Given the description of an element on the screen output the (x, y) to click on. 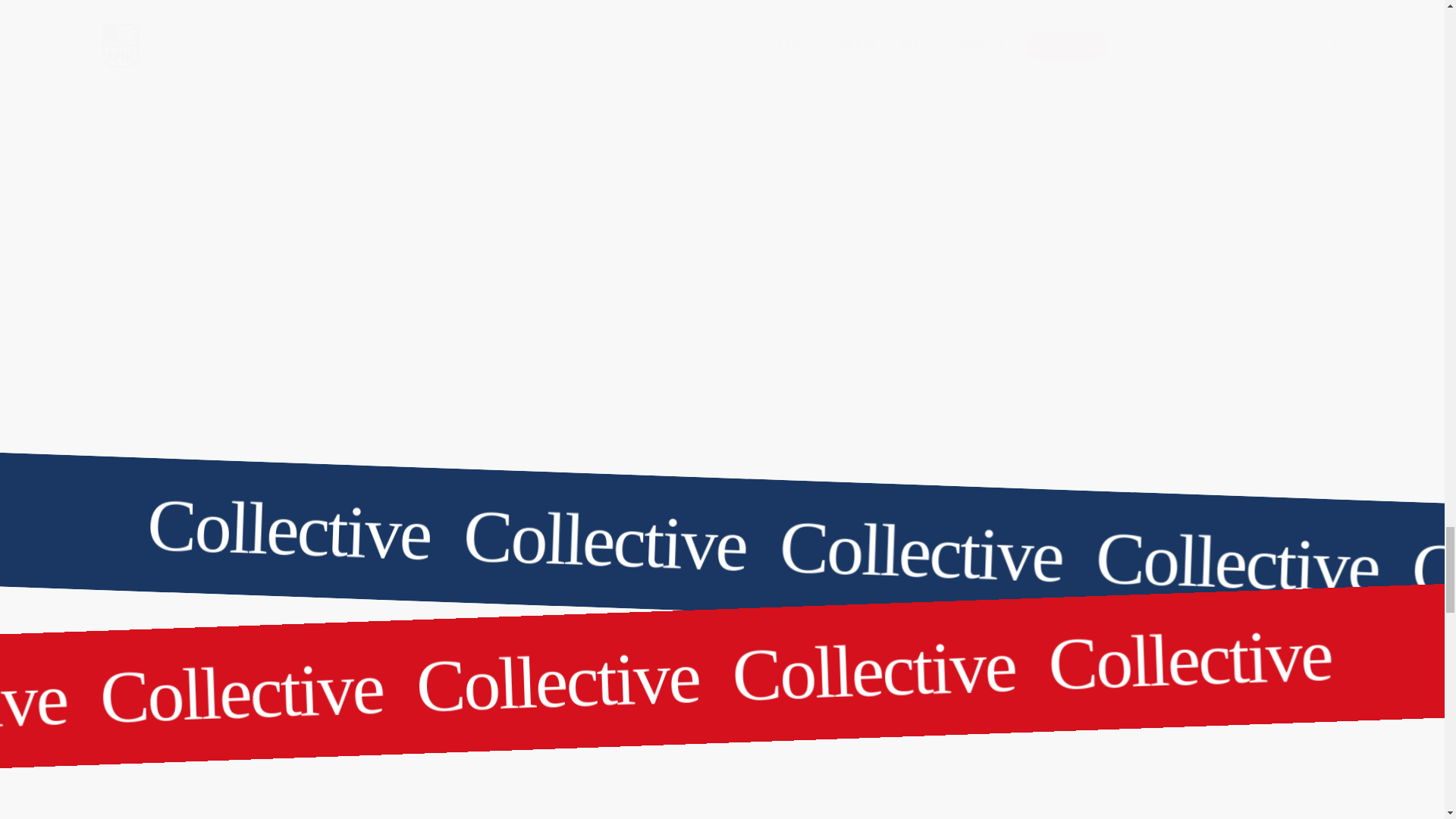
Collective (1302, 648)
Collective (717, 517)
Collective (98, 692)
Collective (141, 517)
Collective (760, 539)
Collective (717, 648)
Collective (717, 648)
Collective (717, 517)
Collective (671, 670)
Collective (357, 681)
